Given the description of an element on the screen output the (x, y) to click on. 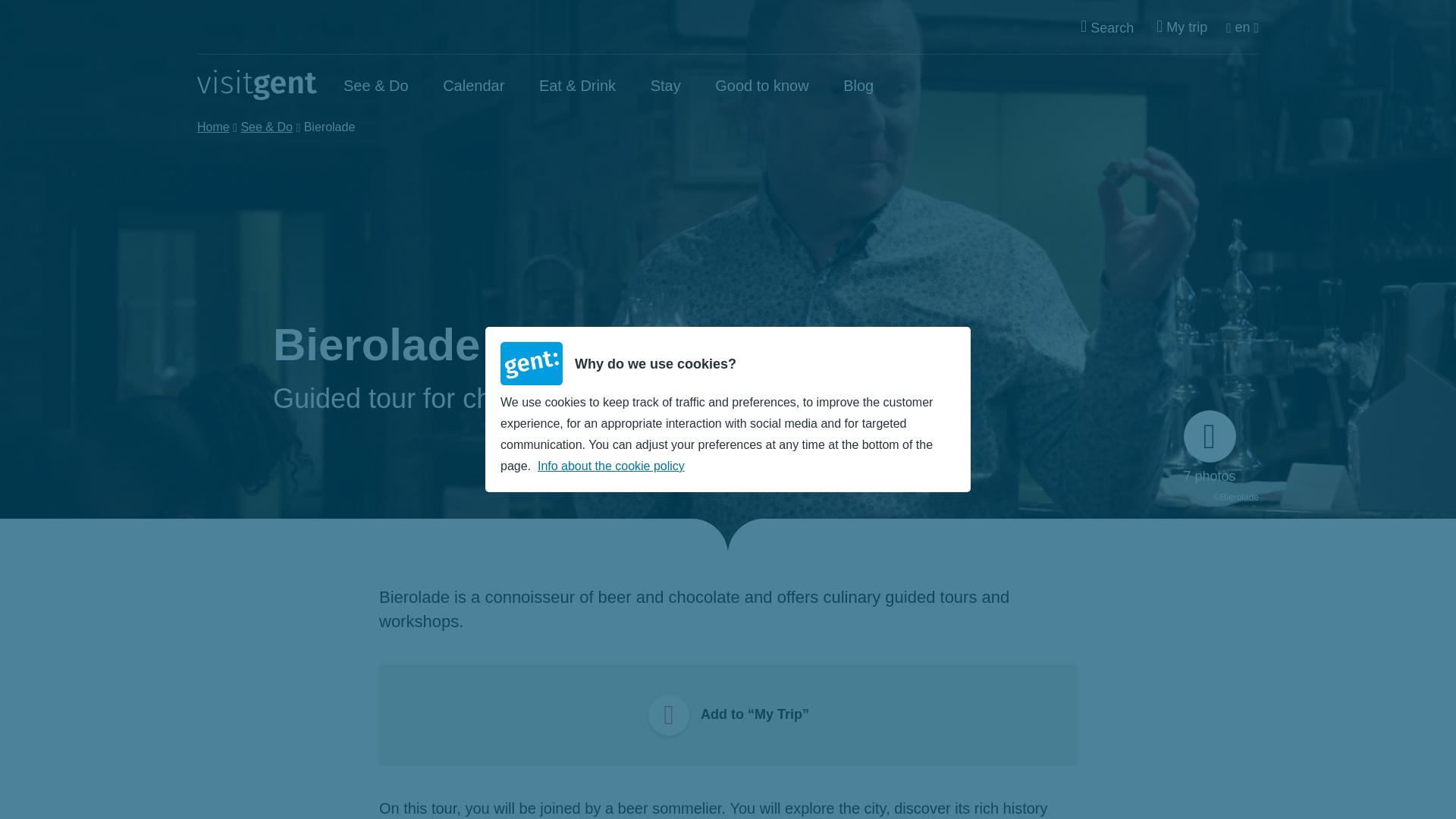
My trip (1182, 27)
Search (1107, 27)
Stay (666, 85)
Good to know (761, 85)
Home (256, 84)
en (1242, 26)
Blog (858, 85)
Calendar (472, 85)
